Given the description of an element on the screen output the (x, y) to click on. 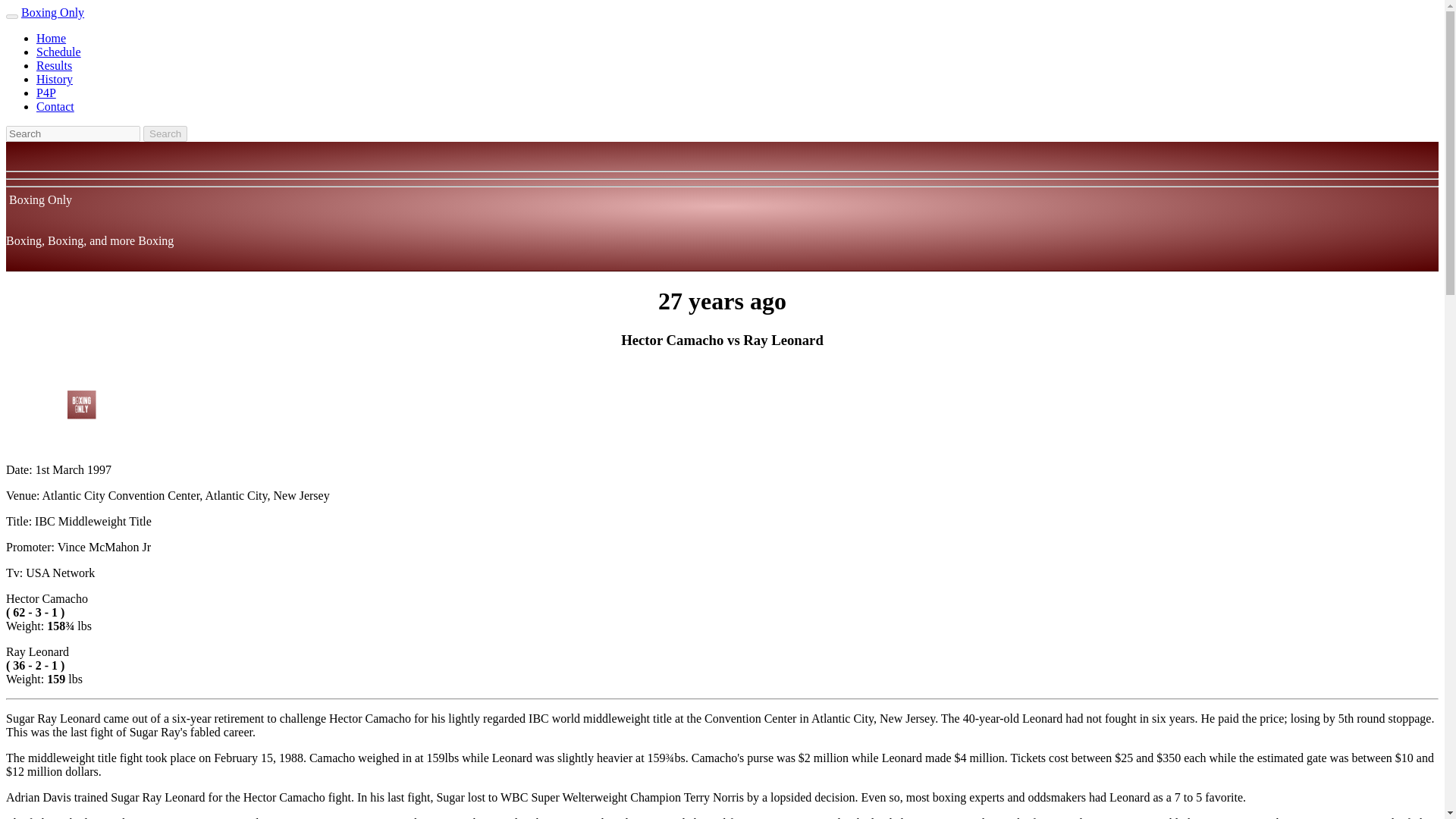
Search (164, 133)
Schedule (58, 51)
Boxing Only (52, 11)
Results (53, 65)
History (54, 78)
Contact (55, 106)
Hector Camacho vs Ray Leonard (81, 405)
Home (50, 38)
P4P (46, 92)
